Given the description of an element on the screen output the (x, y) to click on. 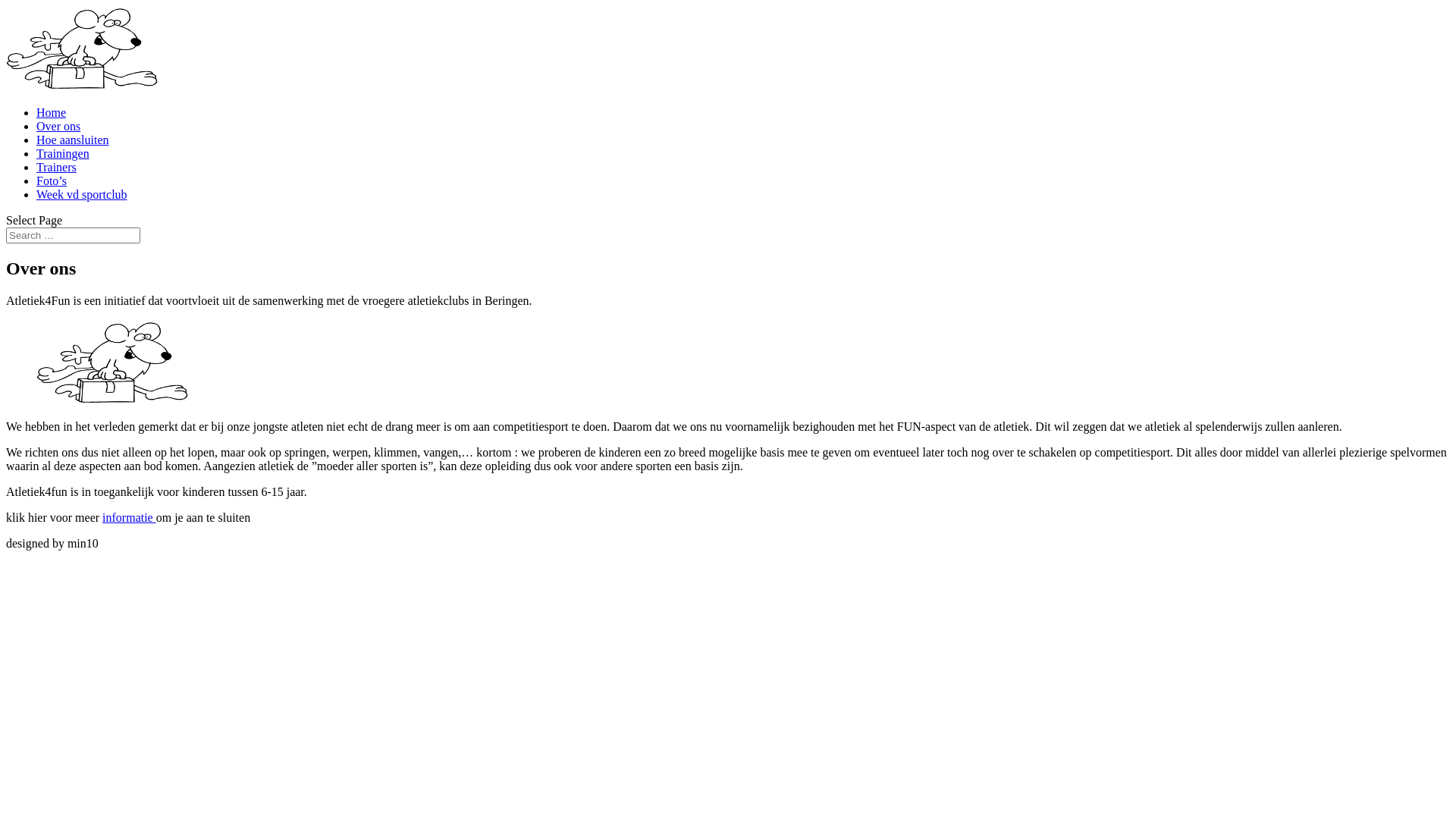
informatie  Element type: text (129, 517)
Over ons Element type: text (58, 125)
Home Element type: text (50, 112)
Week vd sportclub Element type: text (81, 194)
Trainingen Element type: text (62, 153)
Hoe aansluiten Element type: text (72, 139)
Trainers Element type: text (56, 166)
Search for: Element type: hover (73, 235)
